Given the description of an element on the screen output the (x, y) to click on. 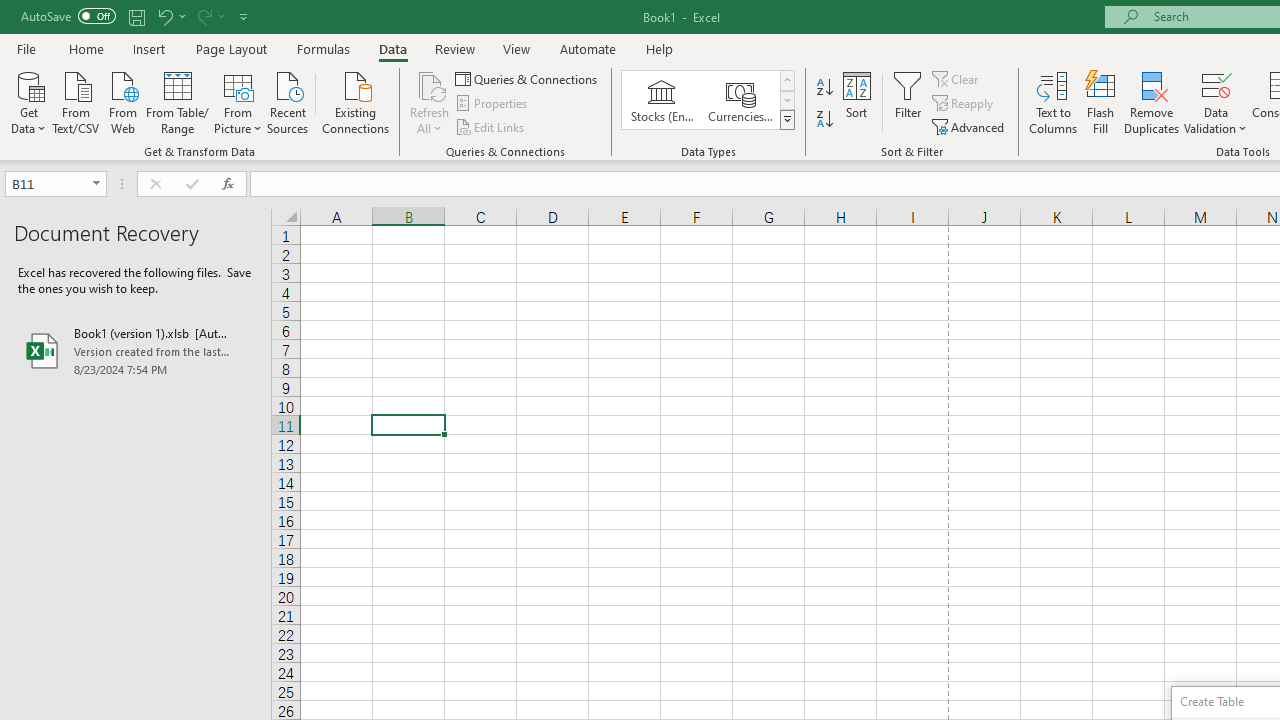
From Text/CSV (75, 101)
Flash Fill (1101, 102)
Data Types (786, 120)
Text to Columns... (1053, 102)
Get Data (28, 101)
Edit Links (491, 126)
Clear (957, 78)
